Given the description of an element on the screen output the (x, y) to click on. 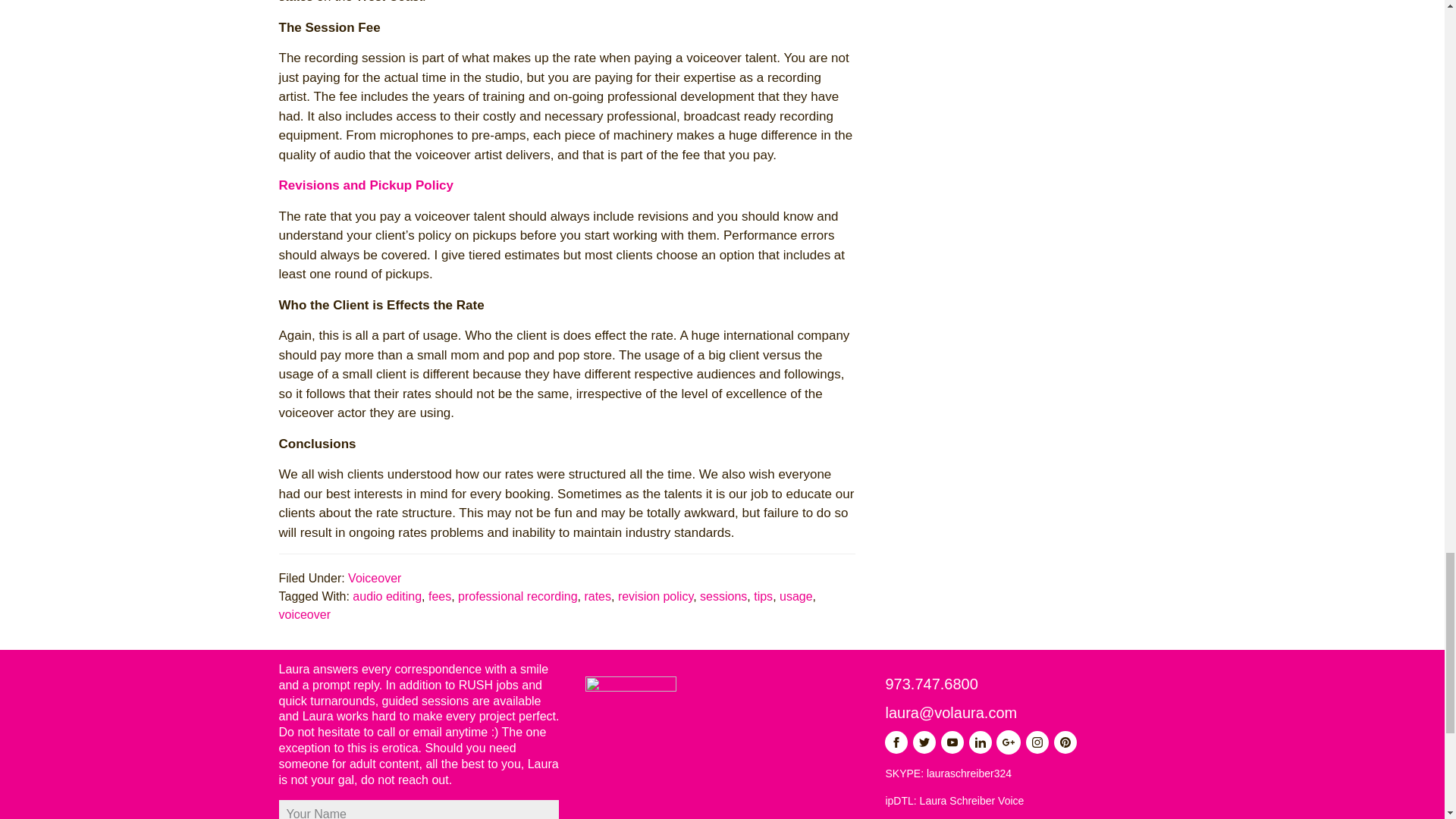
Youtube (951, 742)
twitter (924, 742)
Linkedin (980, 742)
facebook (896, 742)
